Given the description of an element on the screen output the (x, y) to click on. 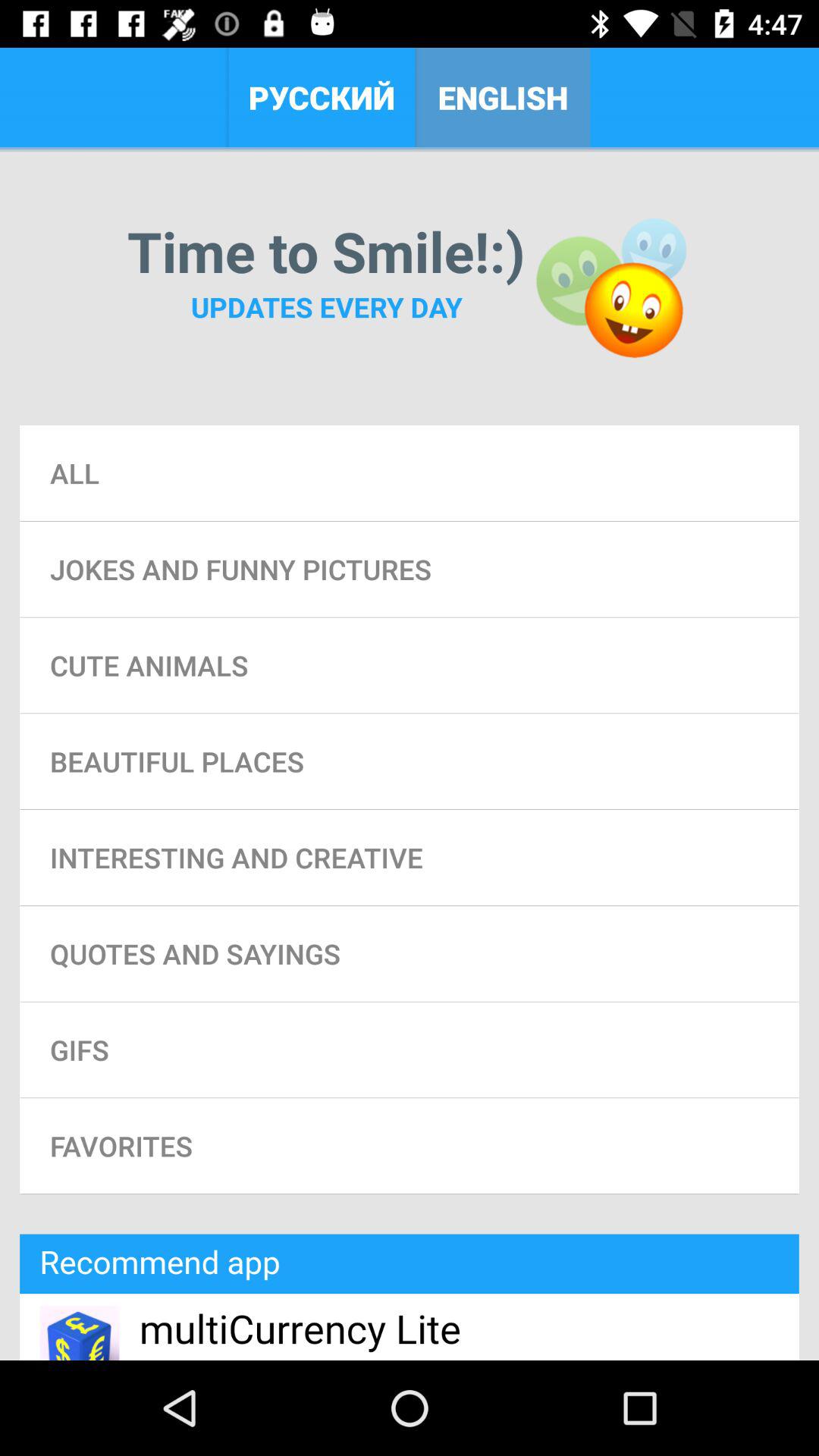
press item below the gifs (409, 1145)
